Given the description of an element on the screen output the (x, y) to click on. 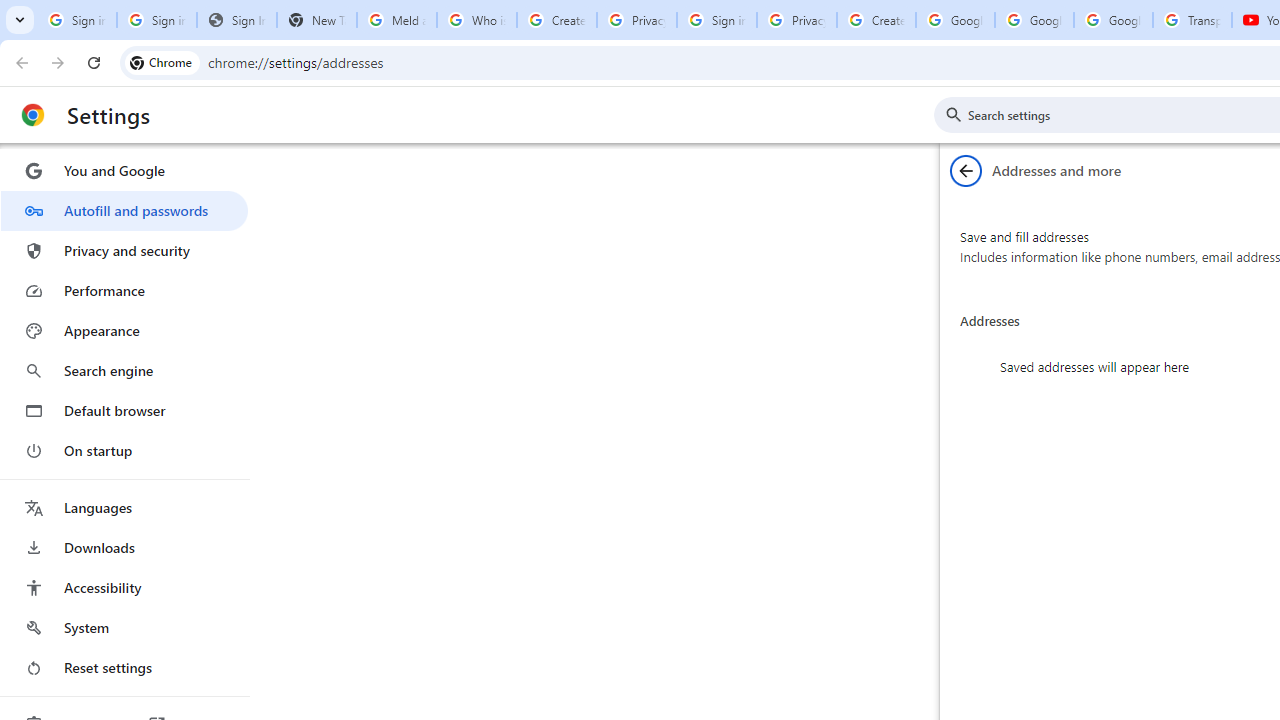
Greeting Line... (833, 161)
Chinese Envelope... (68, 161)
Highlight Merge Fields (664, 161)
Edit Recipient List... (532, 161)
Insert Merge Field (927, 136)
Select Recipients (423, 161)
Redo Apply Quick Style (341, 31)
Undo Apply Quick Style Set (280, 31)
